Given the description of an element on the screen output the (x, y) to click on. 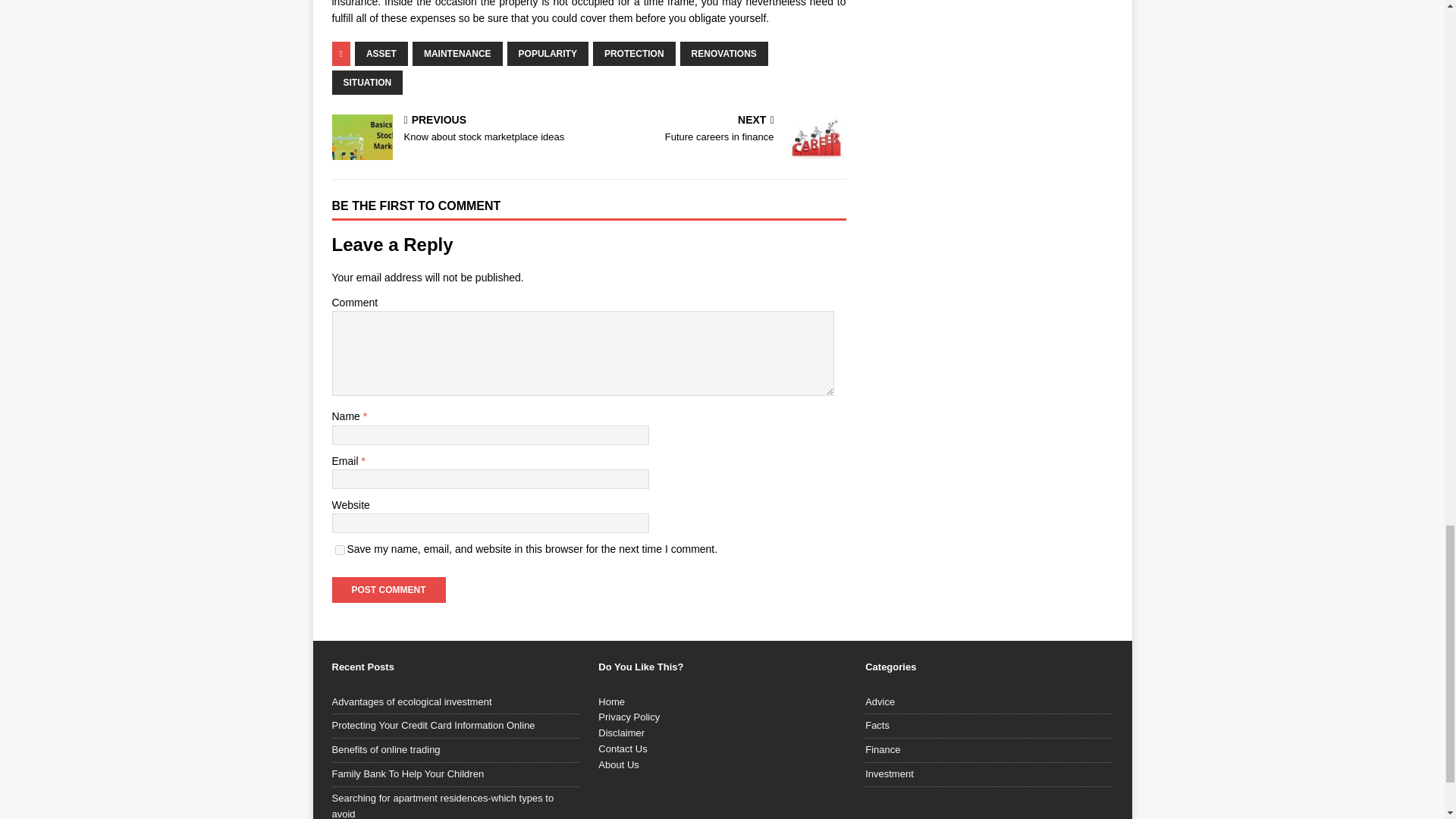
POPULARITY (547, 53)
yes (339, 550)
Post Comment (720, 129)
Post Comment (388, 589)
SITUATION (388, 589)
MAINTENANCE (367, 82)
PROTECTION (457, 129)
ASSET (457, 53)
RENOVATIONS (633, 53)
